Given the description of an element on the screen output the (x, y) to click on. 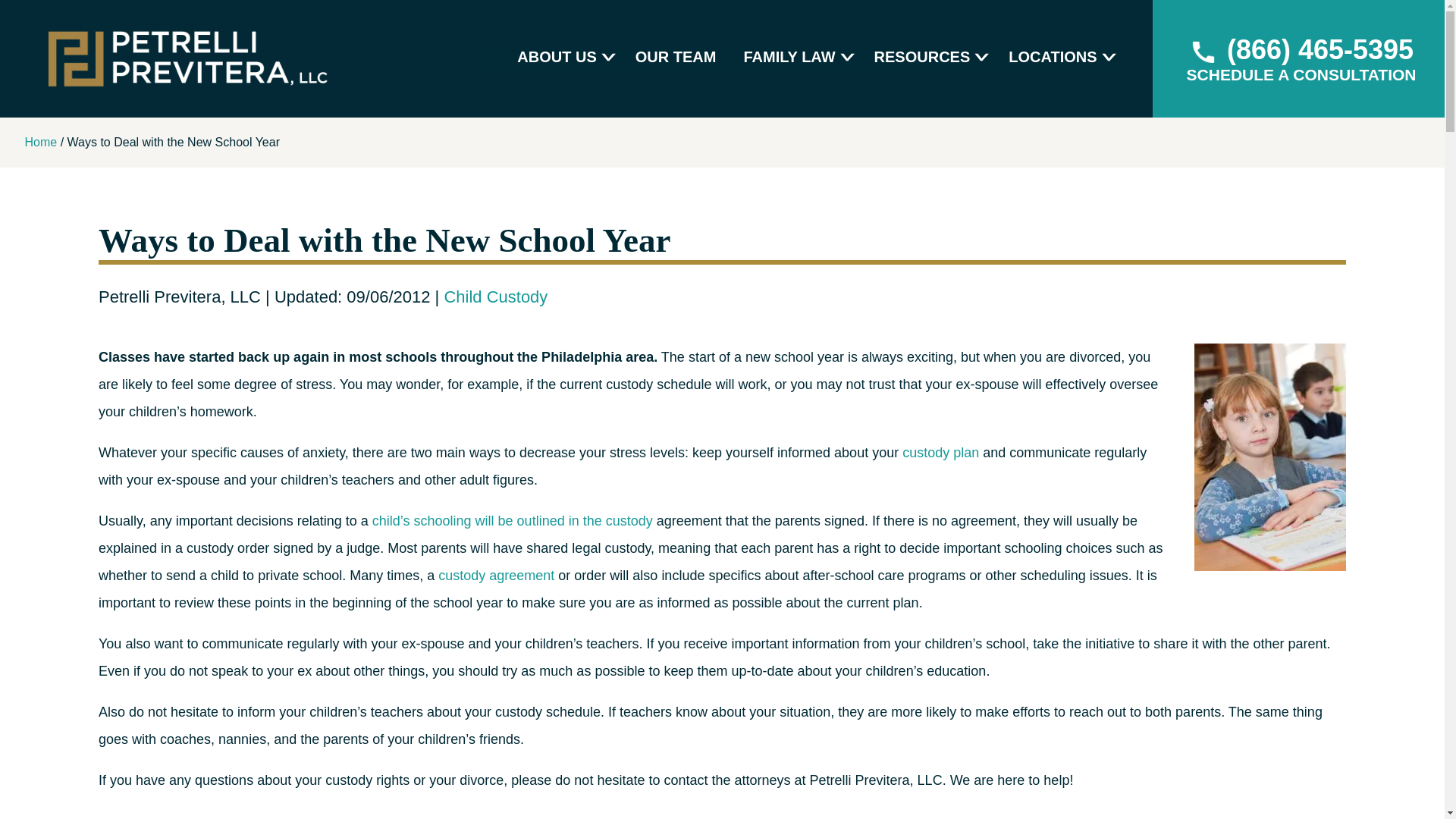
OUR TEAM (675, 58)
ABOUT US (561, 58)
RESOURCES (928, 58)
FAMILY LAW (794, 58)
